Given the description of an element on the screen output the (x, y) to click on. 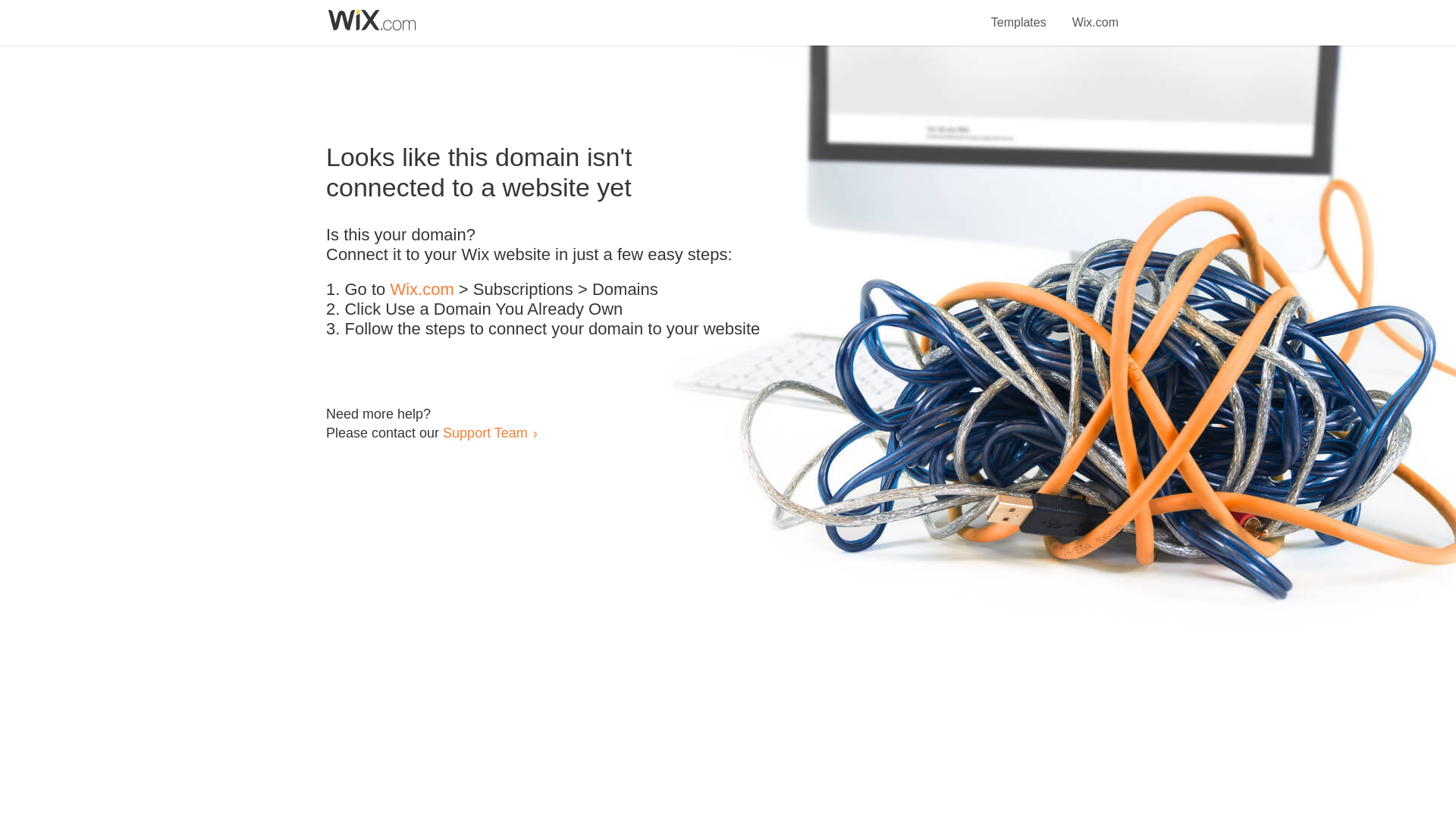
Support Team (484, 432)
Wix.com (421, 289)
Templates (1018, 14)
Wix.com (1095, 14)
